Given the description of an element on the screen output the (x, y) to click on. 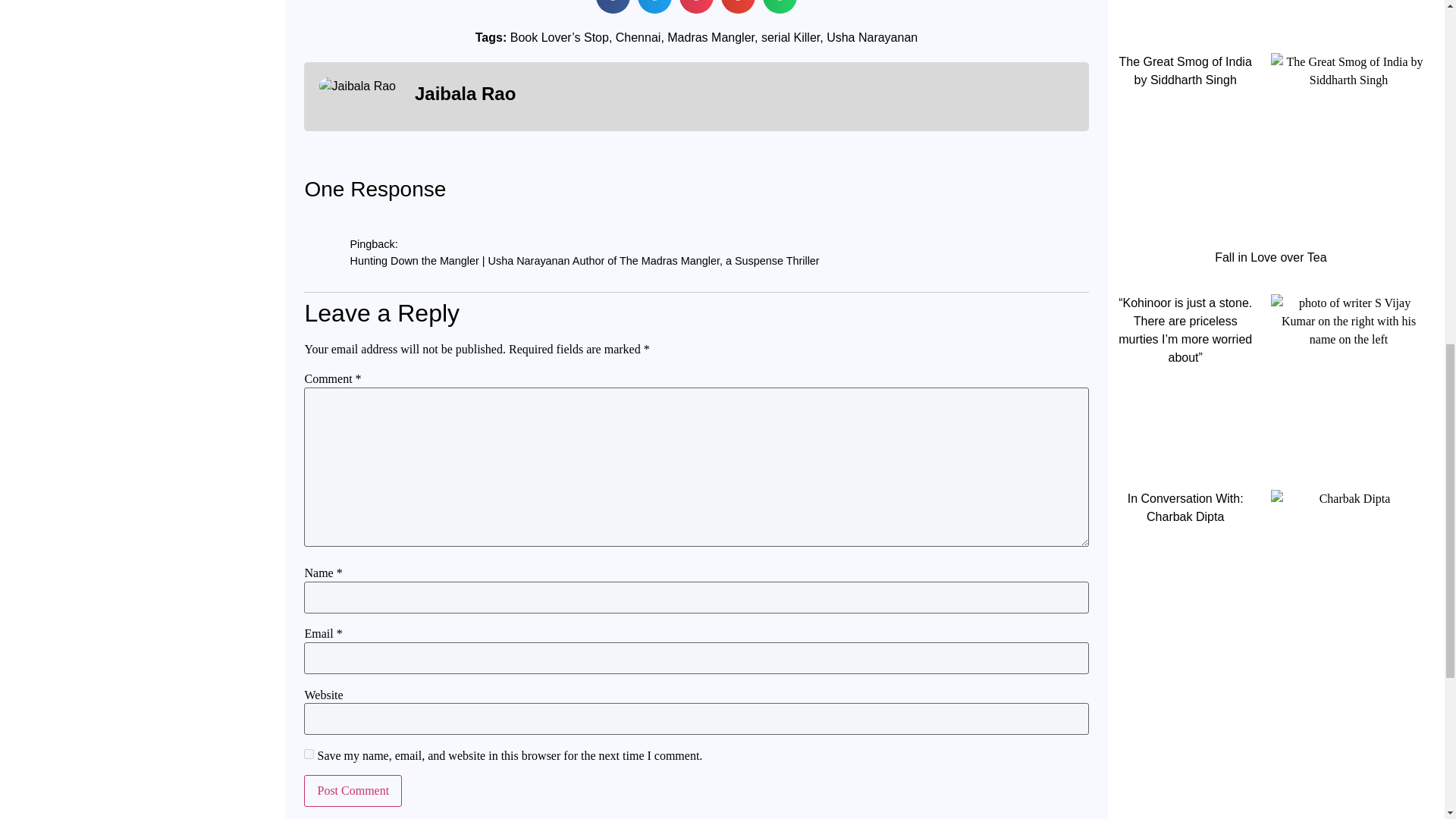
yes (309, 754)
Post Comment (352, 790)
